Given the description of an element on the screen output the (x, y) to click on. 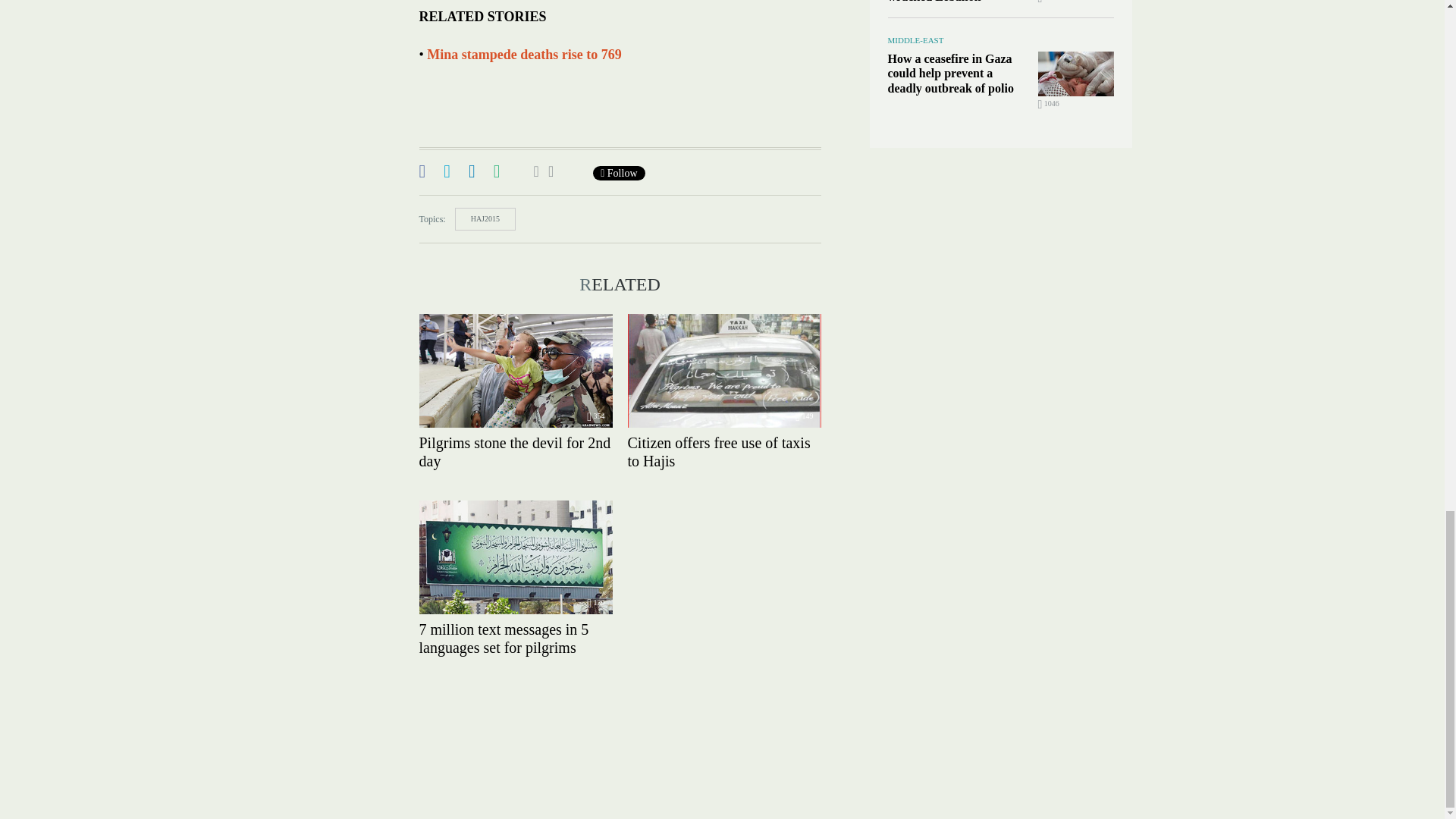
7 million text messages in 5 languages set for pilgrims (515, 557)
Citizen offers free use of taxis to Hajis (724, 370)
Pilgrims stone the devil for 2nd day (515, 370)
